Given the description of an element on the screen output the (x, y) to click on. 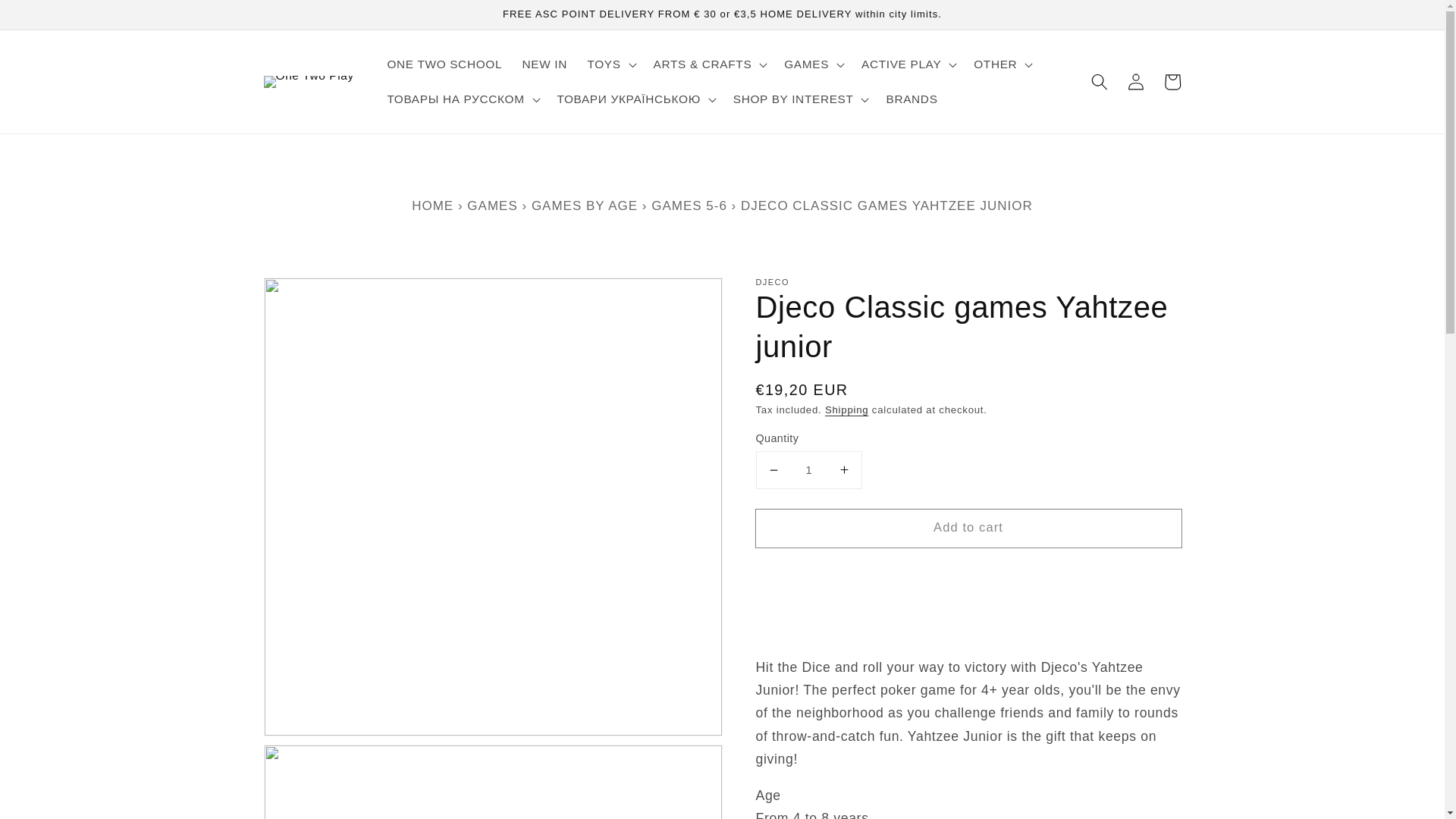
home (435, 205)
GAMES (491, 205)
1 (808, 470)
Skip to content (49, 18)
GAMES 5-6 (688, 205)
